Given the description of an element on the screen output the (x, y) to click on. 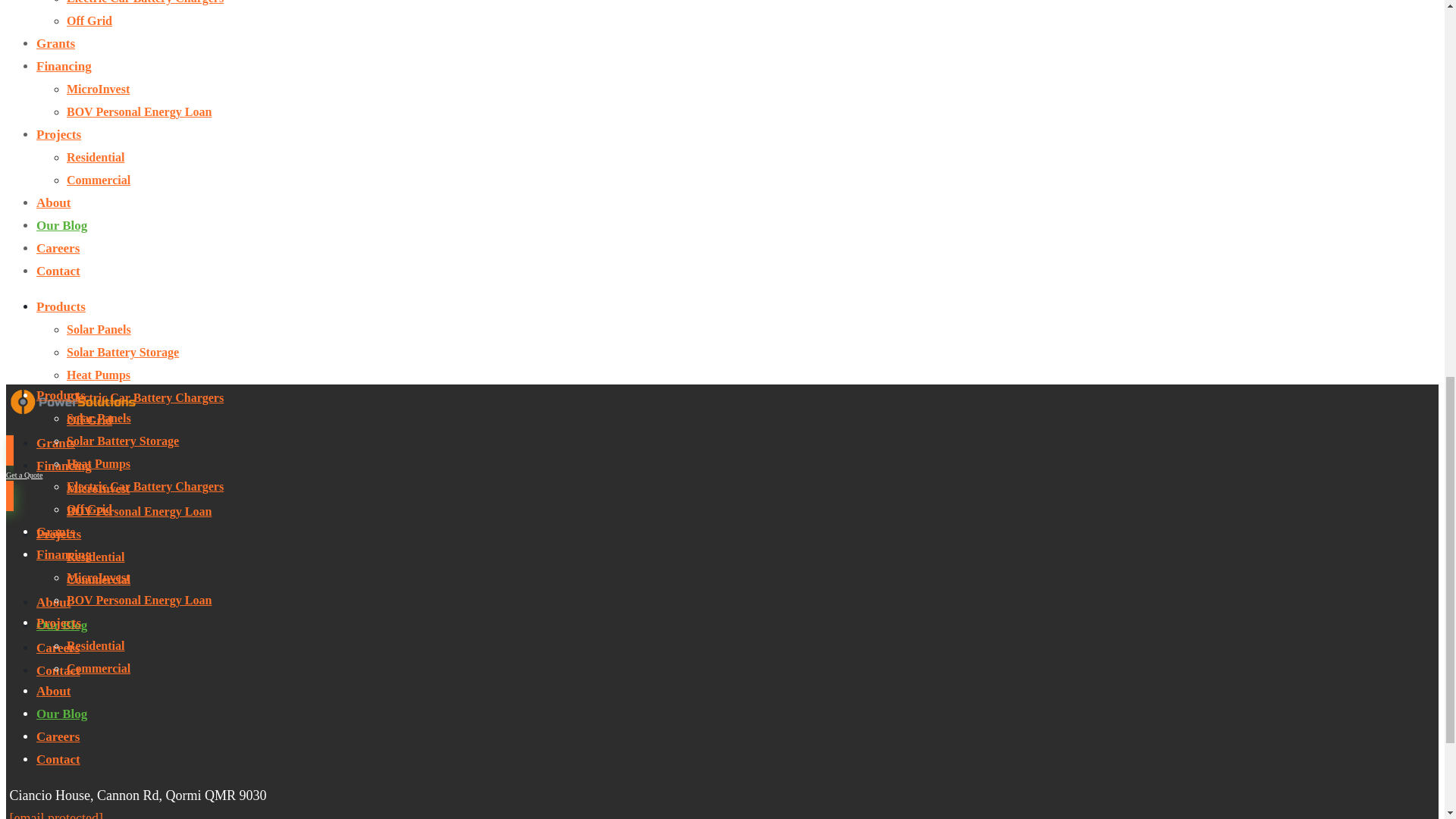
MicroInvest (97, 88)
Commercial (98, 179)
Electric Car Battery Chargers (145, 2)
About (52, 202)
Projects (58, 134)
BOV Personal Energy Loan (138, 111)
Grants (55, 43)
Residential (94, 156)
Financing (63, 65)
Off Grid (89, 20)
